Given the description of an element on the screen output the (x, y) to click on. 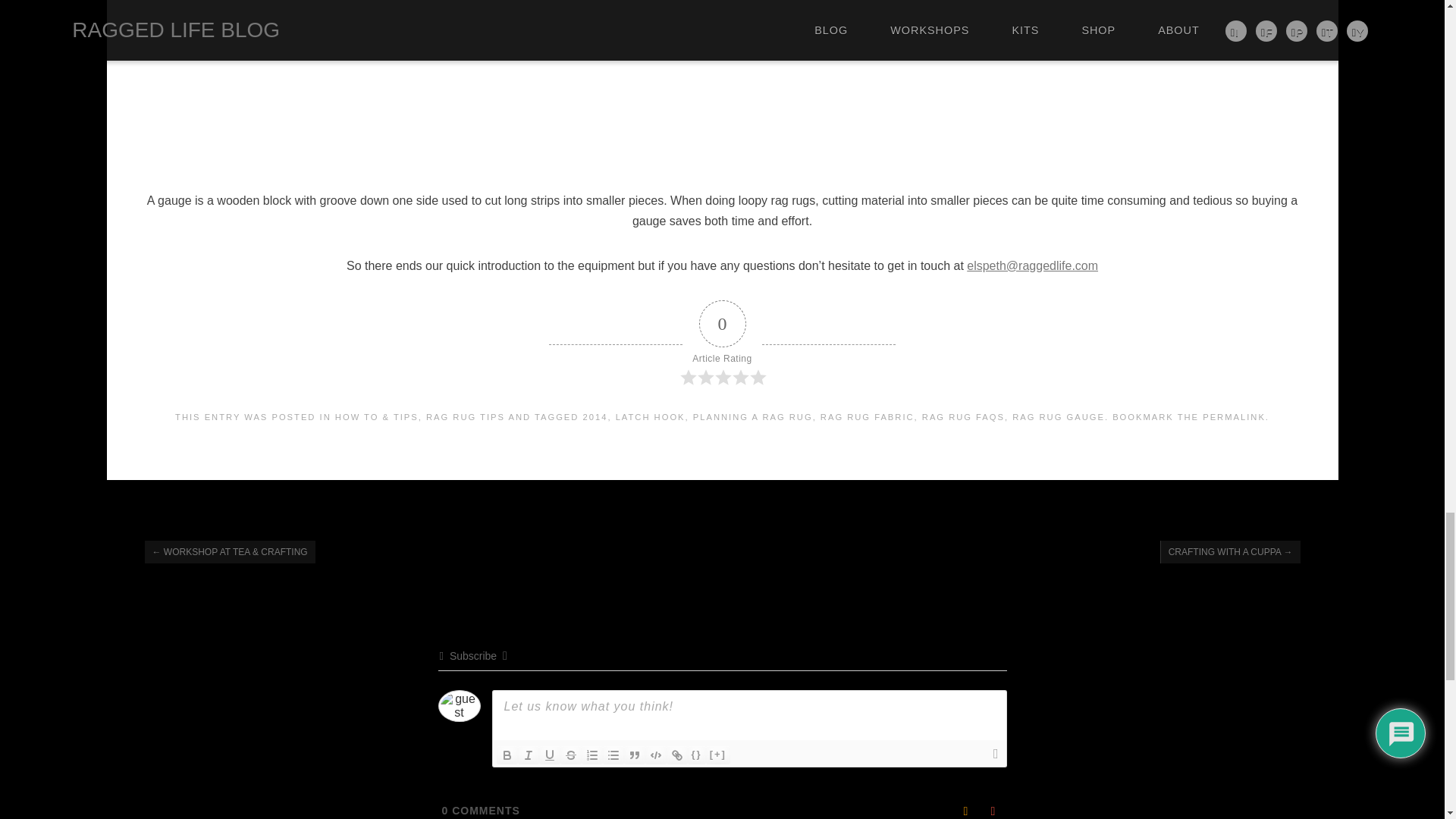
Link (676, 755)
Source Code (695, 755)
RAG RUG TIPS (465, 416)
Italic (527, 755)
Unordered List (612, 755)
RAG RUG GAUGE (1058, 416)
Spoiler (718, 755)
RAG RUG FABRIC (867, 416)
Blockquote (634, 755)
2014 (595, 416)
PERMALINK (1233, 416)
Permalink to Rag Rugging Equipment (1233, 416)
Ordered List (591, 755)
LATCH HOOK (650, 416)
PLANNING A RAG RUG (752, 416)
